Given the description of an element on the screen output the (x, y) to click on. 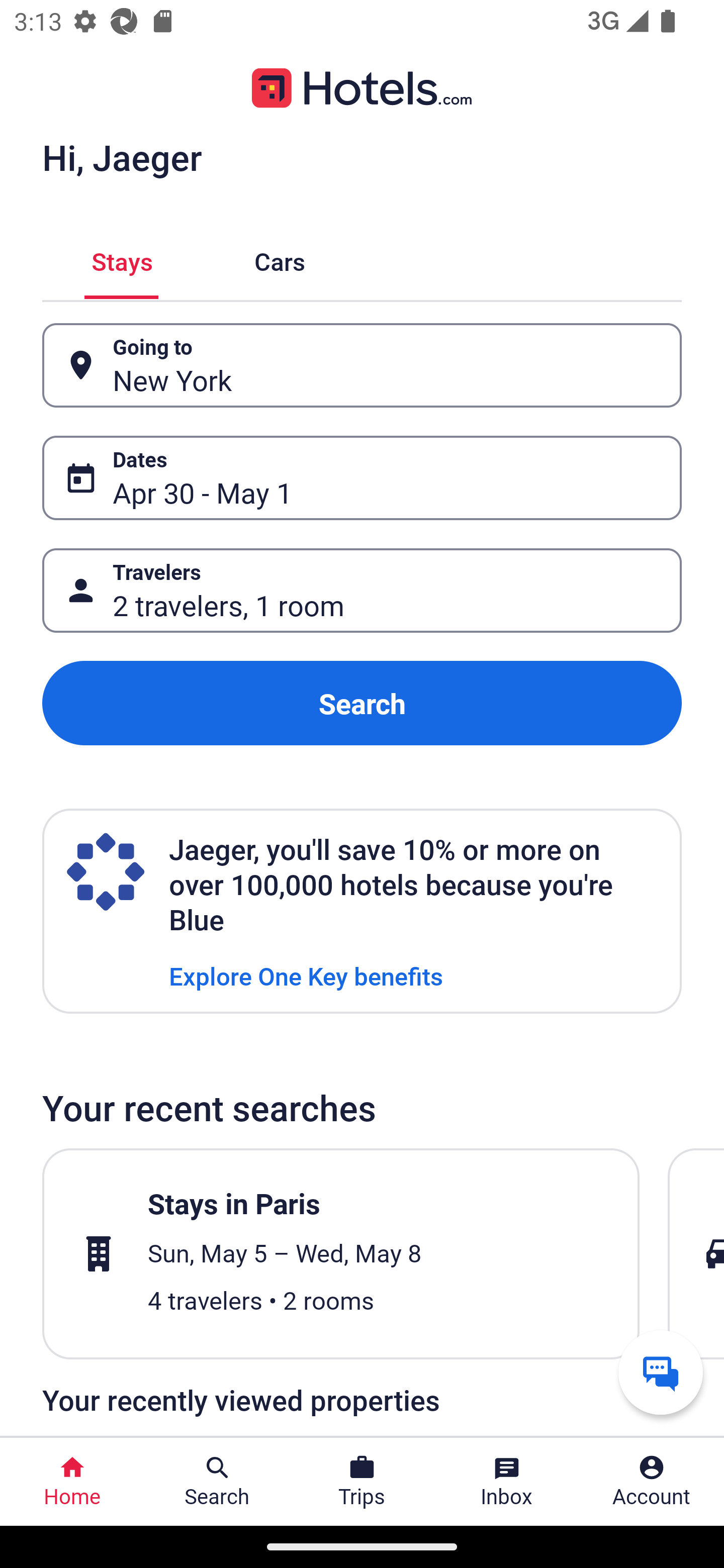
Hi, Jaeger (121, 156)
Cars (279, 259)
Going to Button New York (361, 365)
Dates Button Apr 30 - May 1 (361, 477)
Travelers Button 2 travelers, 1 room (361, 590)
Search (361, 702)
Get help from a virtual agent (660, 1371)
Search Search Button (216, 1481)
Trips Trips Button (361, 1481)
Inbox Inbox Button (506, 1481)
Account Profile. Button (651, 1481)
